Given the description of an element on the screen output the (x, y) to click on. 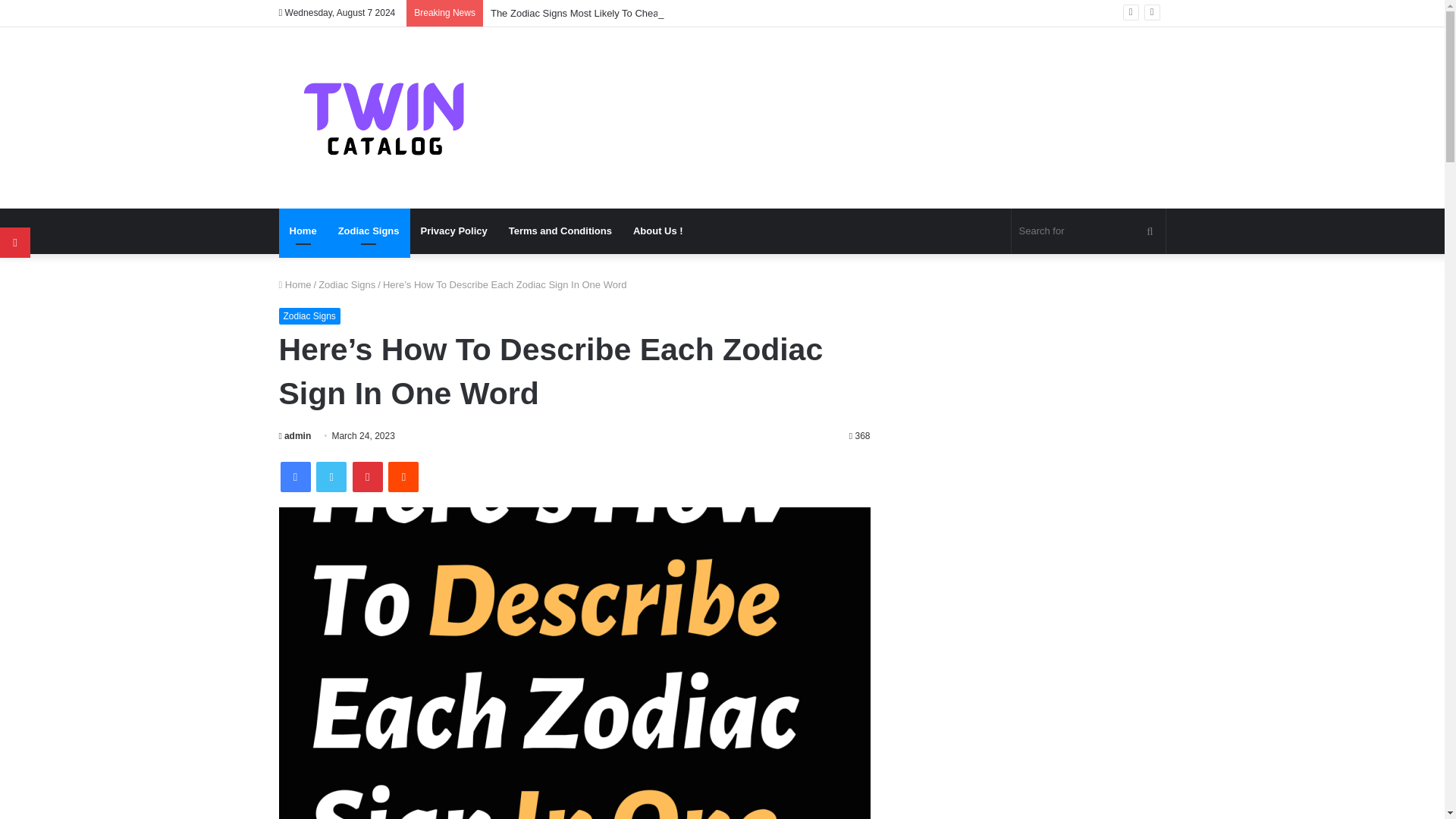
Twitter (330, 476)
Twin Catalog (382, 117)
Zodiac Signs (368, 230)
Facebook (296, 476)
Pinterest (367, 476)
The Zodiac Signs Most Likely To Cheat On You (592, 12)
Facebook (296, 476)
Search for (1088, 230)
admin (295, 435)
Home (295, 284)
